Given the description of an element on the screen output the (x, y) to click on. 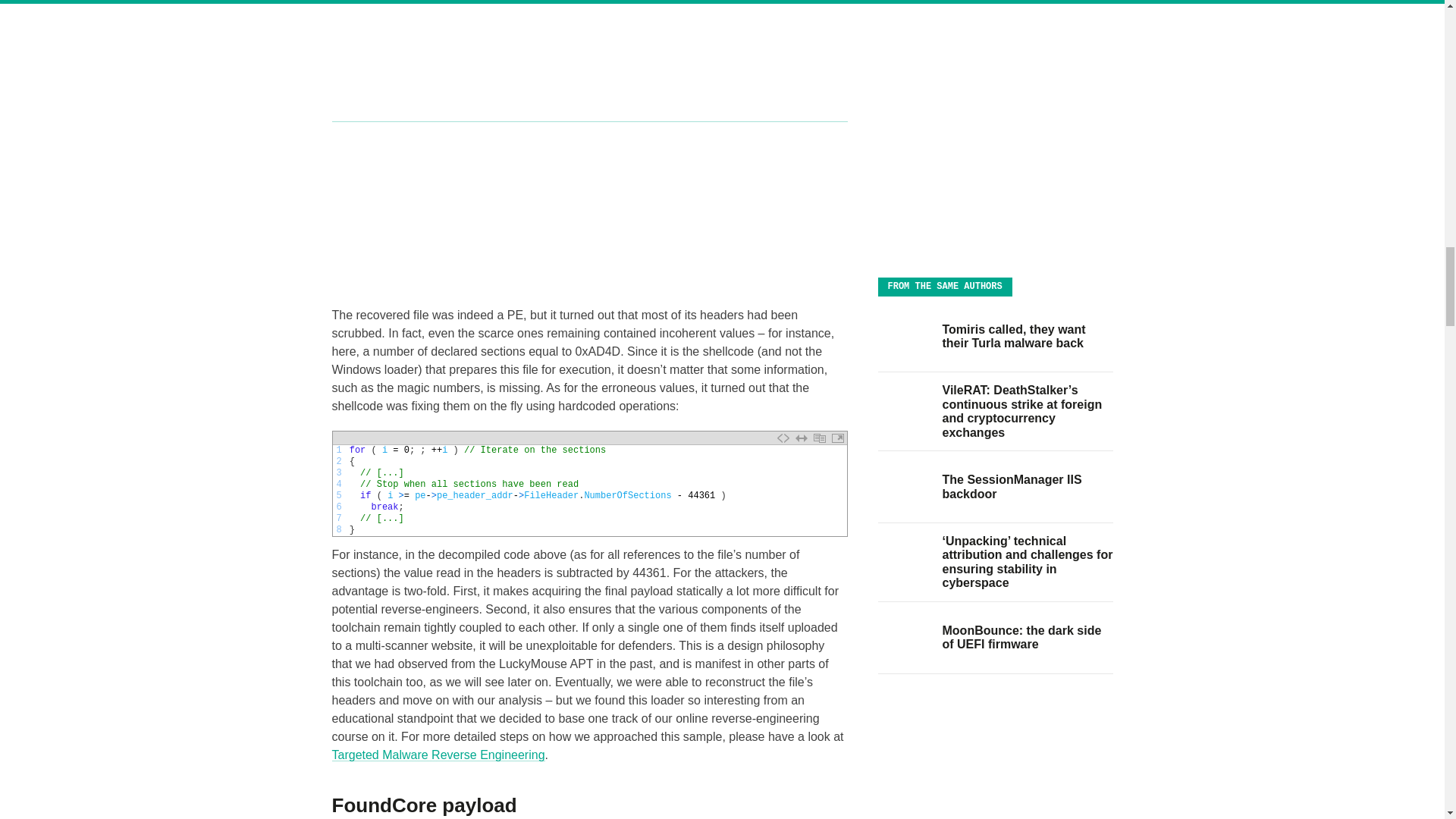
Toggle Plain Code (782, 438)
Open Code In New Window (836, 438)
Expand Code (800, 438)
Copy (818, 438)
